Given the description of an element on the screen output the (x, y) to click on. 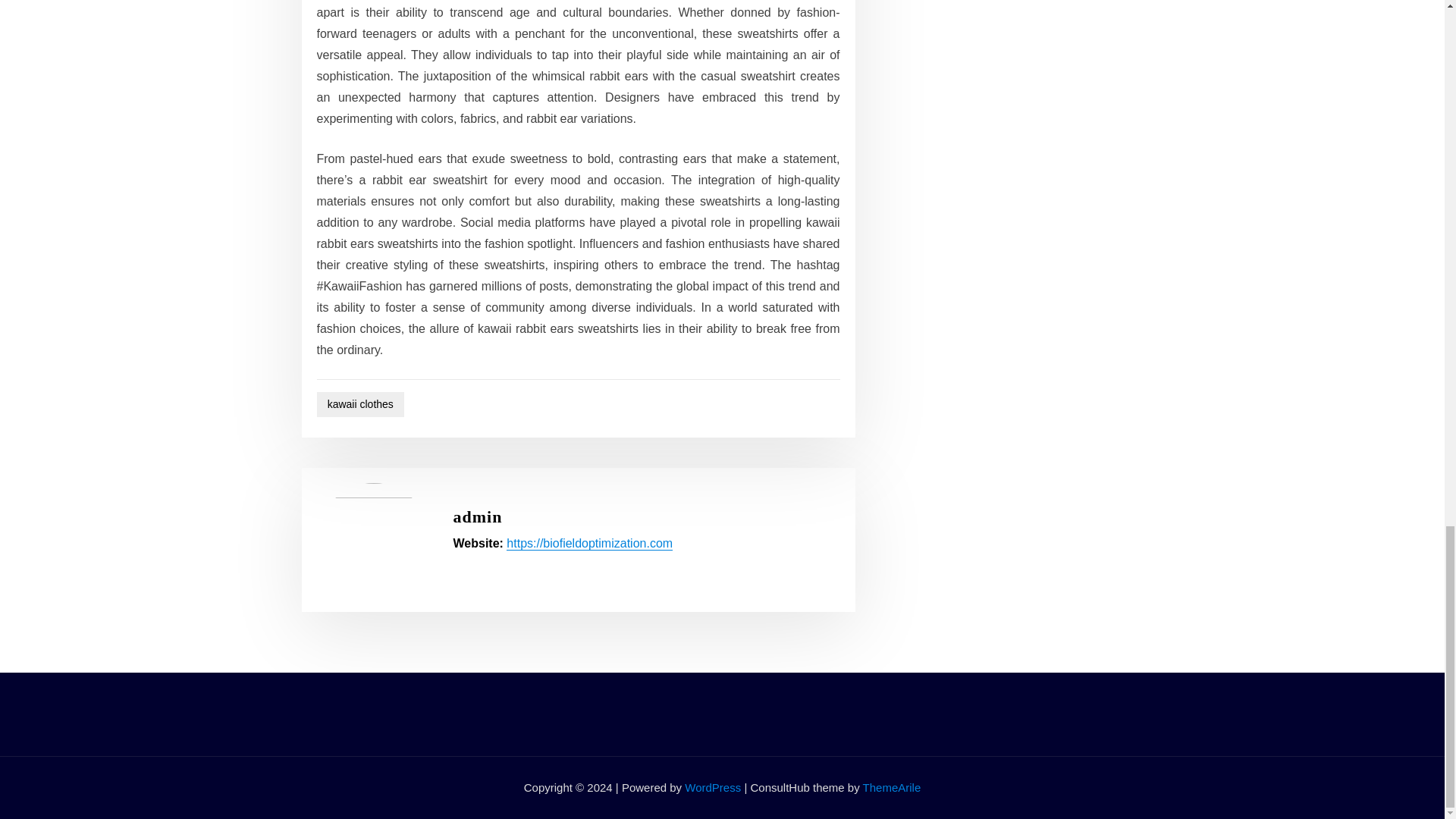
ThemeArile (892, 787)
kawaii clothes (360, 404)
WordPress (712, 787)
admin (477, 516)
